Given the description of an element on the screen output the (x, y) to click on. 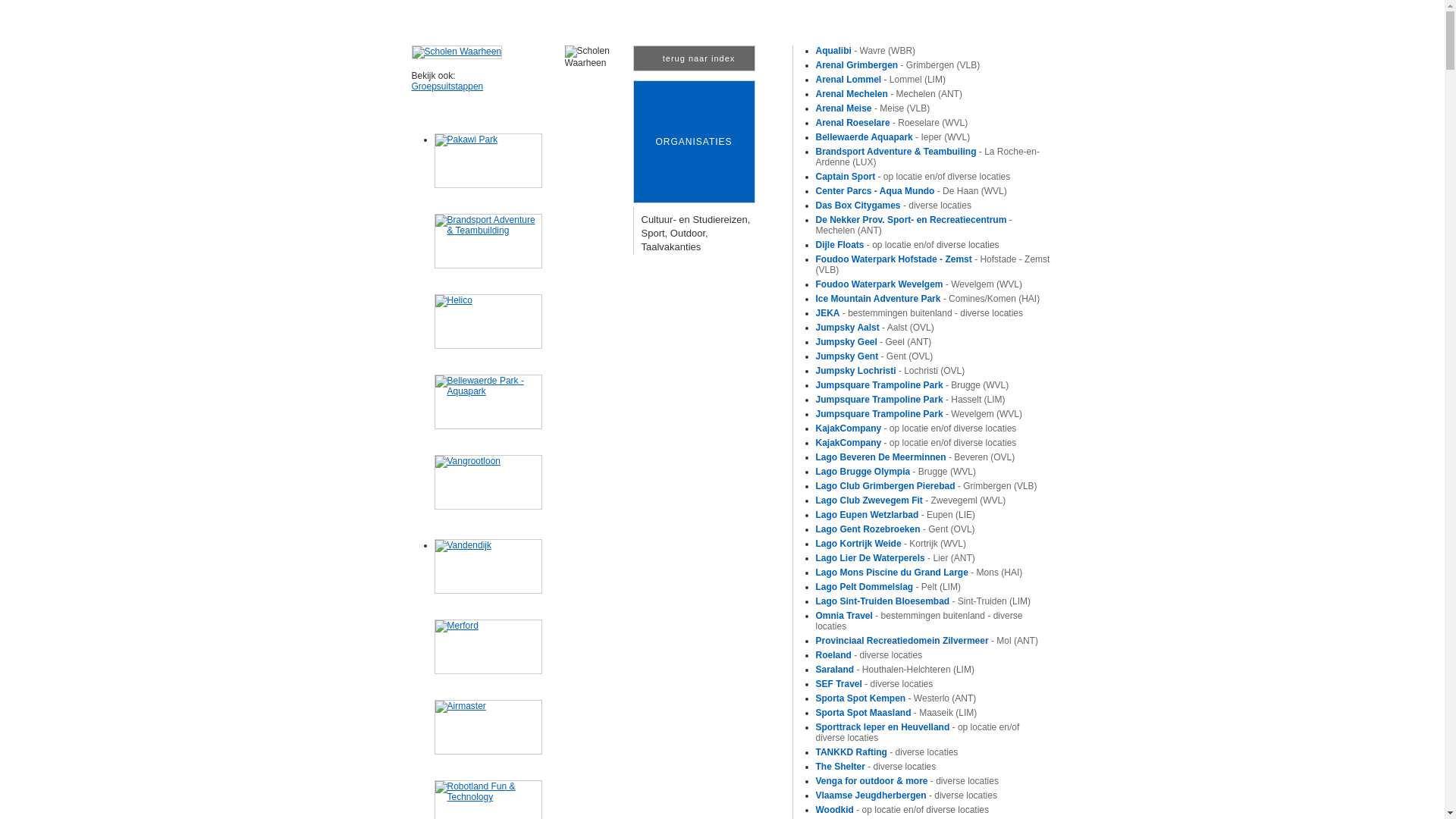
Airmaster Element type: hover (487, 726)
Roeland - diverse locaties Element type: text (868, 654)
Bellewaerde Park - Aquapark Element type: hover (487, 401)
Venga for outdoor & more - diverse locaties Element type: text (906, 780)
Ice Mountain Adventure Park - Comines/Komen (HAI) Element type: text (927, 298)
Lago Brugge Olympia - Brugge (WVL) Element type: text (895, 471)
contact Element type: text (1019, 6)
TANKKD Rafting - diverse locaties Element type: text (886, 751)
Jumpsky Geel - Geel (ANT) Element type: text (873, 341)
Jumpsky Aalst - Aalst (OVL) Element type: text (874, 327)
Foudoo Waterpark Wevelgem - Wevelgem (WVL) Element type: text (918, 284)
Cultuur- en Studiereizen, Sport, Outdoor, Taalvakanties Element type: text (695, 232)
Lago Gent Rozebroeken - Gent (OVL) Element type: text (895, 529)
Foudoo Waterpark Hofstade - Zemst - Hofstade - Zemst (VLB) Element type: text (932, 264)
Jumpsky Lochristi - Lochristi (OVL) Element type: text (890, 370)
Lago Club Grimbergen Pierebad - Grimbergen (VLB) Element type: text (926, 485)
Aqualibi - Wavre (WBR) Element type: text (865, 50)
Helico Element type: hover (487, 321)
KajakCompany - op locatie en/of diverse locaties Element type: text (915, 428)
Pakawi Park Element type: hover (487, 160)
De Nekker Prov. Sport- en Recreatiecentrum - Mechelen (ANT) Element type: text (913, 224)
Das Box Citygames - diverse locaties Element type: text (893, 205)
Merford Element type: hover (487, 646)
Arenal Grimbergen - Grimbergen (VLB) Element type: text (897, 64)
Vangrootloon Element type: hover (487, 482)
SEF Travel - diverse locaties Element type: text (874, 683)
Omnia Travel - bestemmingen buitenland - diverse locaties Element type: text (918, 620)
The Shelter - diverse locaties Element type: text (875, 766)
Vandendijk Element type: hover (487, 566)
JEKA - bestemmingen buitenland - diverse locaties Element type: text (918, 312)
Sporta Spot Kempen - Westerlo (ANT) Element type: text (895, 698)
Saraland - Houthalen-Helchteren (LIM) Element type: text (894, 669)
Lago Club Zwevegem Fit - Zwevegeml (WVL) Element type: text (910, 500)
Woodkid - op locatie en/of diverse locaties Element type: text (902, 809)
KajakCompany - op locatie en/of diverse locaties Element type: text (915, 442)
Lago Pelt Dommelslag - Pelt (LIM) Element type: text (887, 586)
Dijle Floats - op locatie en/of diverse locaties Element type: text (907, 244)
Brandsport Adventure & Teambuilding Element type: hover (487, 240)
terug naar index Element type: text (693, 58)
Lago Lier De Waterperels - Lier (ANT) Element type: text (895, 557)
Provinciaal Recreatiedomein Zilvermeer - Mol (ANT) Element type: text (926, 640)
Groepsuitstappen Element type: text (447, 86)
Arenal Mechelen - Mechelen (ANT) Element type: text (888, 93)
Lago Kortrijk Weide - Kortrijk (WVL) Element type: text (890, 543)
Vlaamse Jeugdherbergen - diverse locaties Element type: text (906, 795)
Jumpsky Gent - Gent (OVL) Element type: text (874, 356)
Lago Beveren De Meerminnen - Beveren (OVL) Element type: text (915, 456)
Arenal Roeselare - Roeselare (WVL) Element type: text (891, 122)
Jumpsquare Trampoline Park - Wevelgem (WVL) Element type: text (918, 413)
Jumpsquare Trampoline Park - Brugge (WVL) Element type: text (912, 384)
Scholen Waarheen Element type: hover (456, 52)
Center Parcs - Aqua Mundo - De Haan (WVL) Element type: text (911, 190)
Arenal Meise - Meise (VLB) Element type: text (872, 108)
Arenal Lommel - Lommel (LIM) Element type: text (880, 79)
Jumpsquare Trampoline Park - Hasselt (LIM) Element type: text (910, 399)
Bellewaerde Aquapark - Ieper (WVL) Element type: text (892, 136)
Lago Mons Piscine du Grand Large - Mons (HAI) Element type: text (918, 572)
Lago Sint-Truiden Bloesembad - Sint-Truiden (LIM) Element type: text (923, 601)
Sporta Spot Maasland - Maaseik (LIM) Element type: text (896, 712)
Lago Eupen Wetzlarbad - Eupen (LIE) Element type: text (895, 514)
Captain Sport - op locatie en/of diverse locaties Element type: text (912, 176)
